Given the description of an element on the screen output the (x, y) to click on. 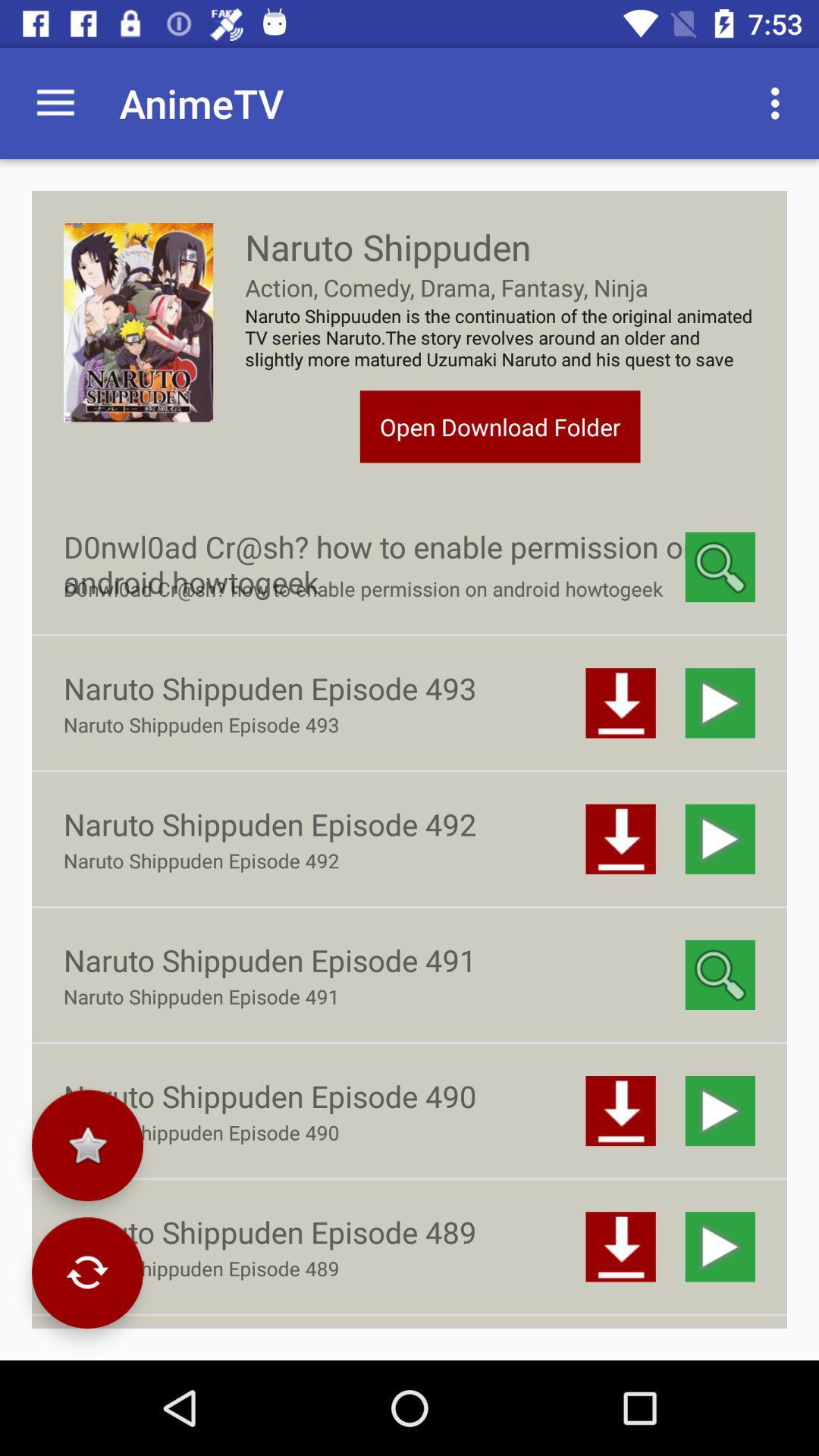
press the app to the right of animetv (779, 103)
